Given the description of an element on the screen output the (x, y) to click on. 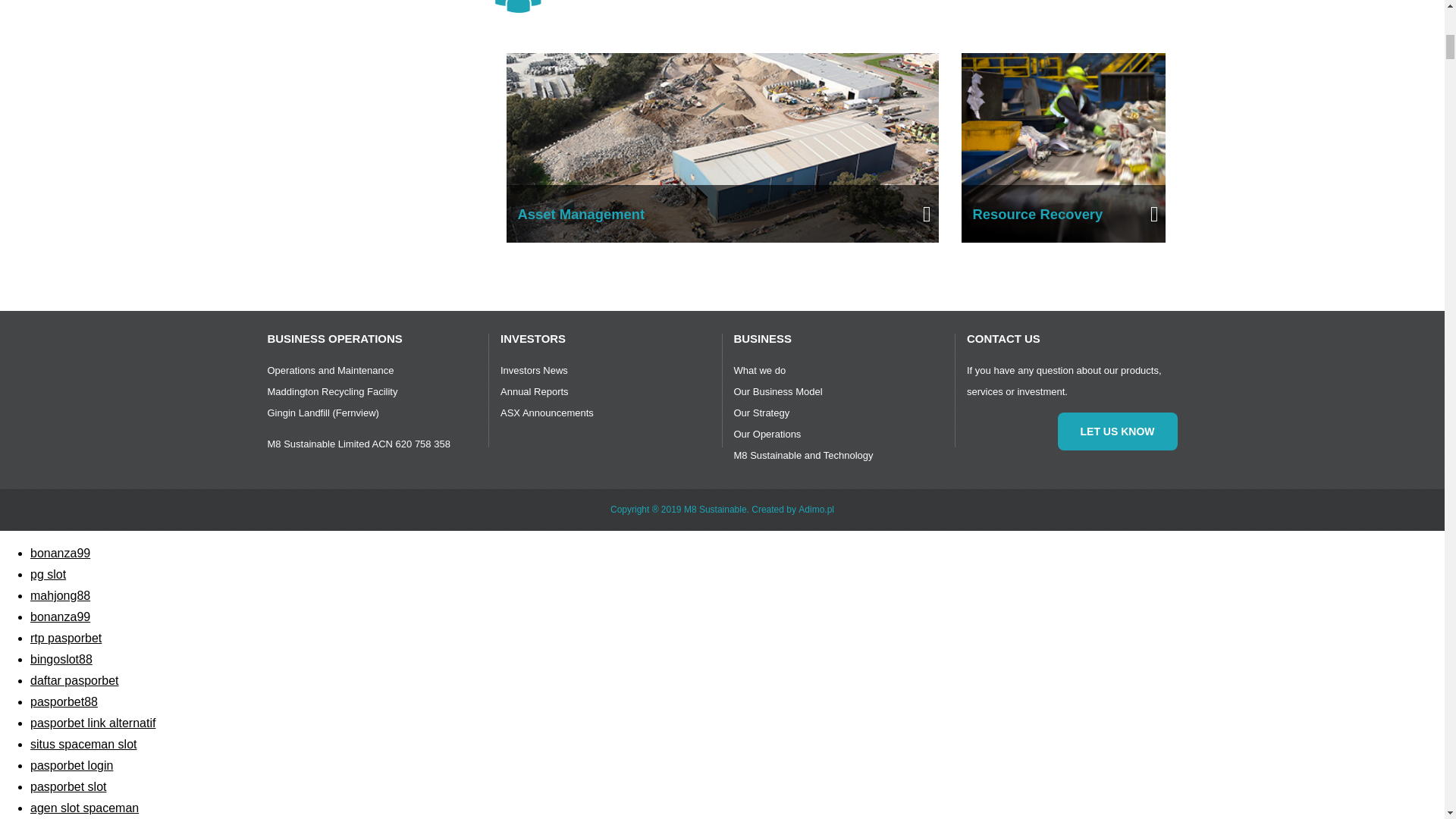
Contact us! (1116, 431)
Adimo.pl - Technologie internetowe (815, 509)
